Given the description of an element on the screen output the (x, y) to click on. 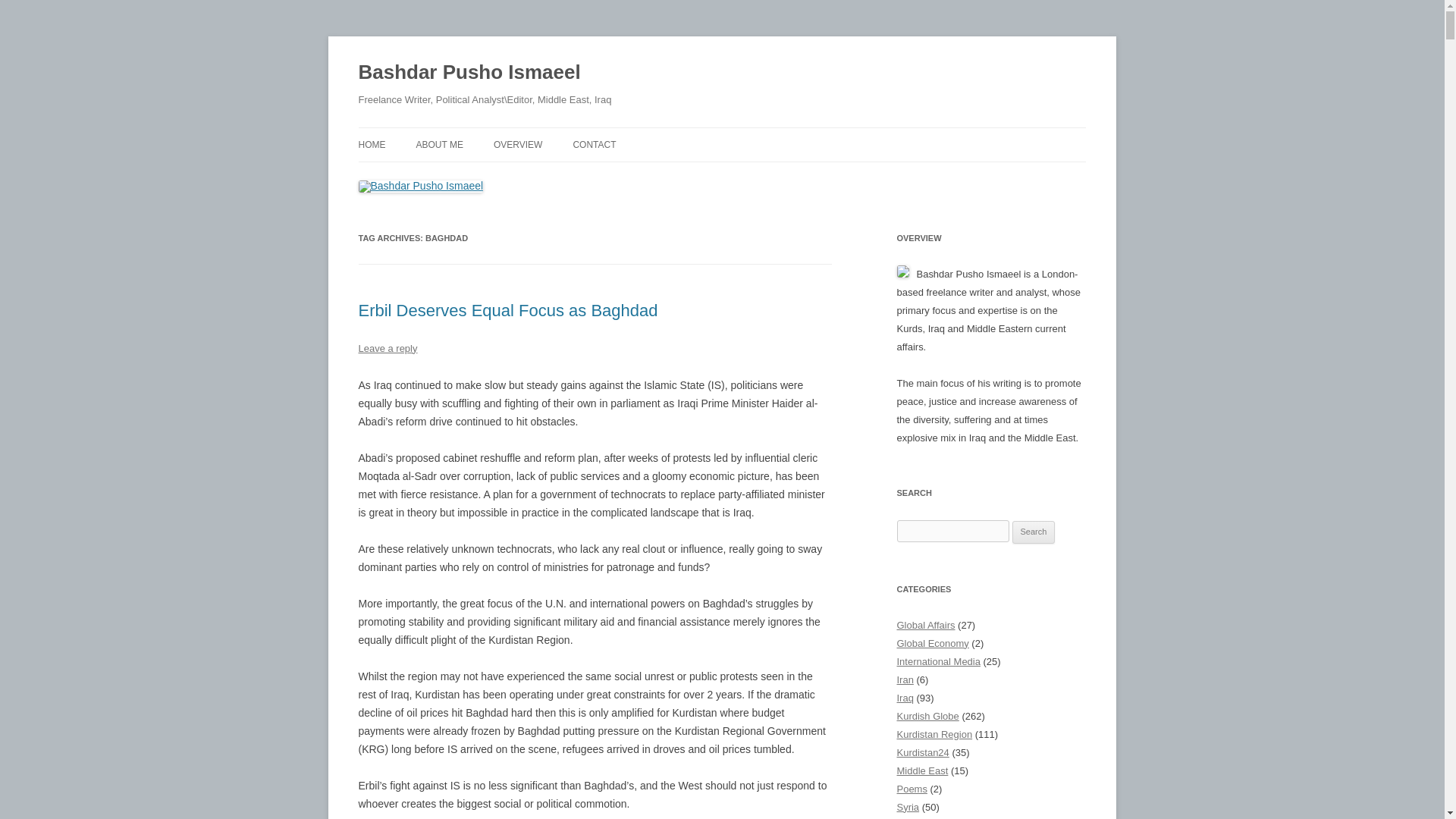
Skip to content (757, 132)
CONTACT (593, 144)
Erbil Deserves Equal Focus as Baghdad (508, 310)
Skip to content (757, 132)
HOME (371, 144)
OVERVIEW (517, 144)
ABOUT ME (438, 144)
Comment on Erbil Deserves Equal Focus as Baghdad (387, 348)
Search (1033, 531)
Bashdar Pusho Ismaeel (468, 72)
Bashdar Pusho Ismaeel (468, 72)
Leave a reply (387, 348)
